Given the description of an element on the screen output the (x, y) to click on. 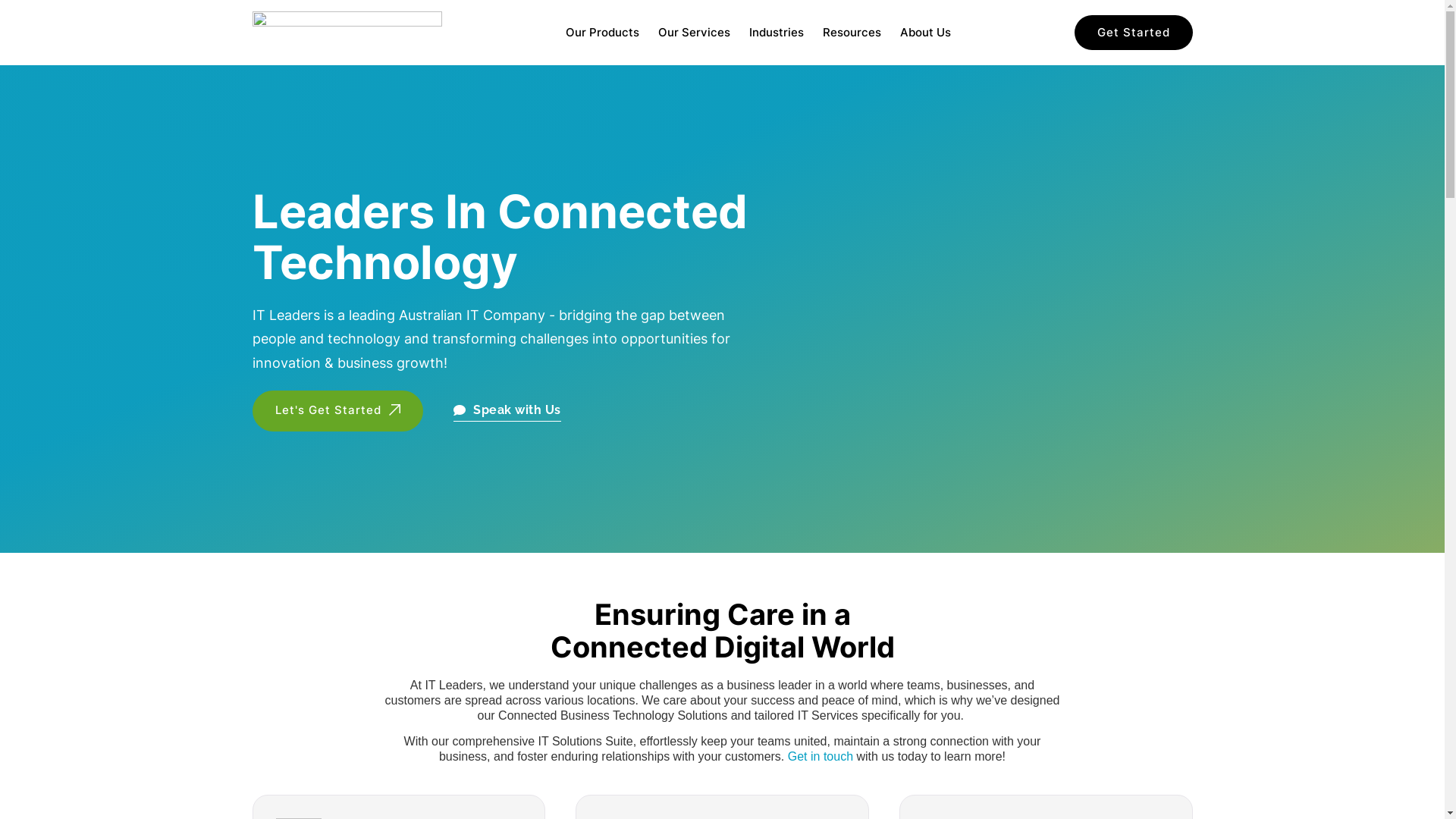
Let's Get Started Element type: text (336, 411)
Resources Element type: text (851, 32)
About Us Element type: text (924, 32)
Industries Element type: text (776, 32)
Speak with Us Element type: text (507, 410)
Get Started Element type: text (1132, 32)
Get in touch Element type: text (820, 755)
Our Products Element type: text (602, 32)
Our Services Element type: text (694, 32)
